Given the description of an element on the screen output the (x, y) to click on. 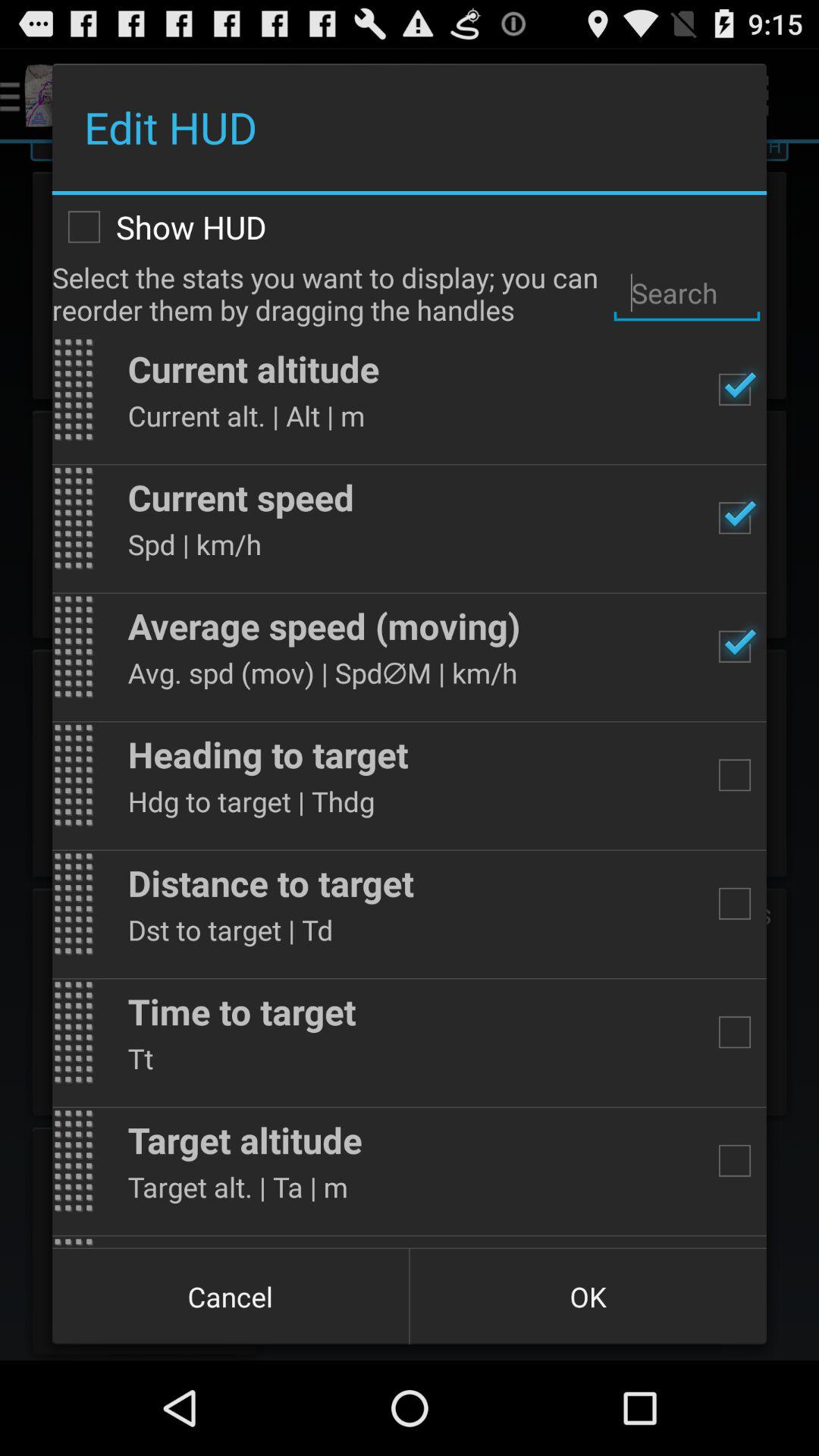
swipe until show hud (409, 226)
